Given the description of an element on the screen output the (x, y) to click on. 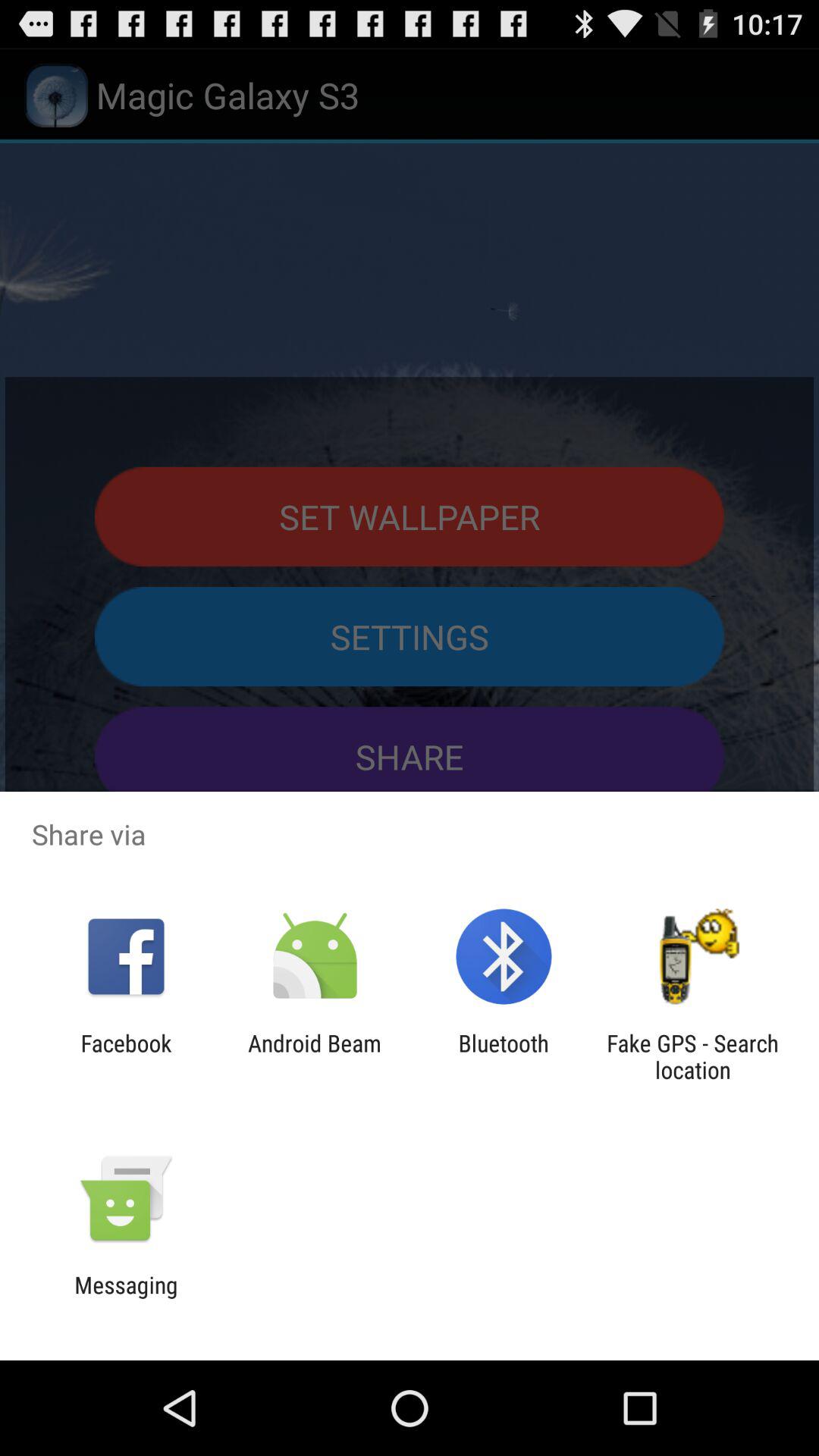
click the app to the right of the android beam item (503, 1056)
